Given the description of an element on the screen output the (x, y) to click on. 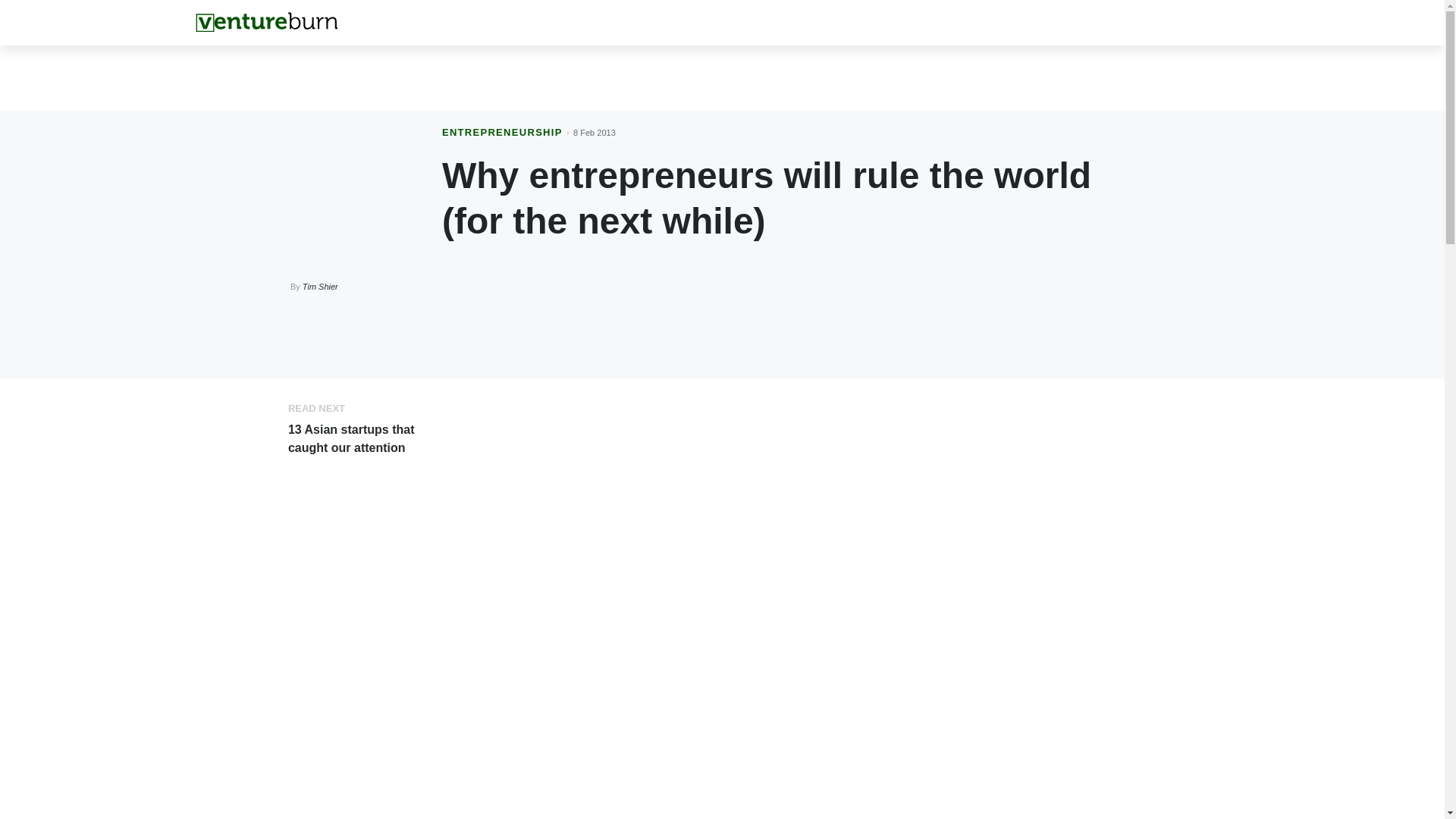
Home (266, 21)
Tim Shier (319, 286)
13 Asian startups that caught our attention (351, 438)
ENTREPRENEURSHIP (502, 132)
entrepreneur idea (670, 682)
8 Feb 2013 (594, 132)
